Given the description of an element on the screen output the (x, y) to click on. 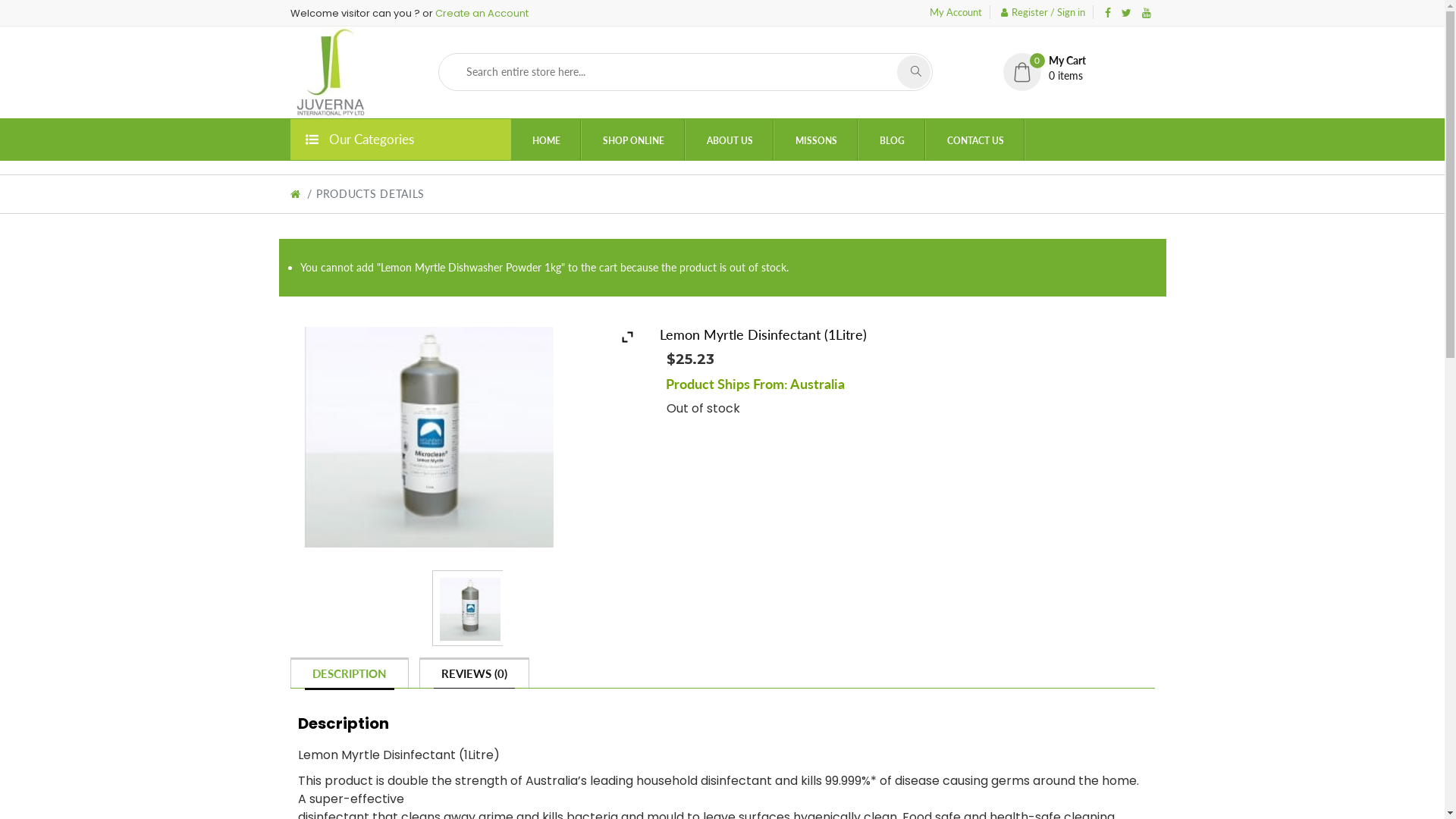
My Account Element type: text (955, 12)
MISSONS Element type: text (815, 139)
Our Categories Element type: text (399, 139)
CONTACT US Element type: text (974, 139)
DESCRIPTION Element type: text (349, 672)
BLOG Element type: text (891, 139)
micriclean_diinfectant Element type: hover (463, 607)
REVIEWS (0) Element type: text (473, 672)
HOME Element type: text (546, 139)
Register / Sign in Element type: text (1043, 12)
ABOUT US Element type: text (729, 139)
0
My Cart
0 items Element type: text (1078, 68)
Create an Account Element type: text (481, 13)
micriclean_diinfectant Element type: hover (428, 433)
SHOP ONLINE Element type: text (632, 139)
